Given the description of an element on the screen output the (x, y) to click on. 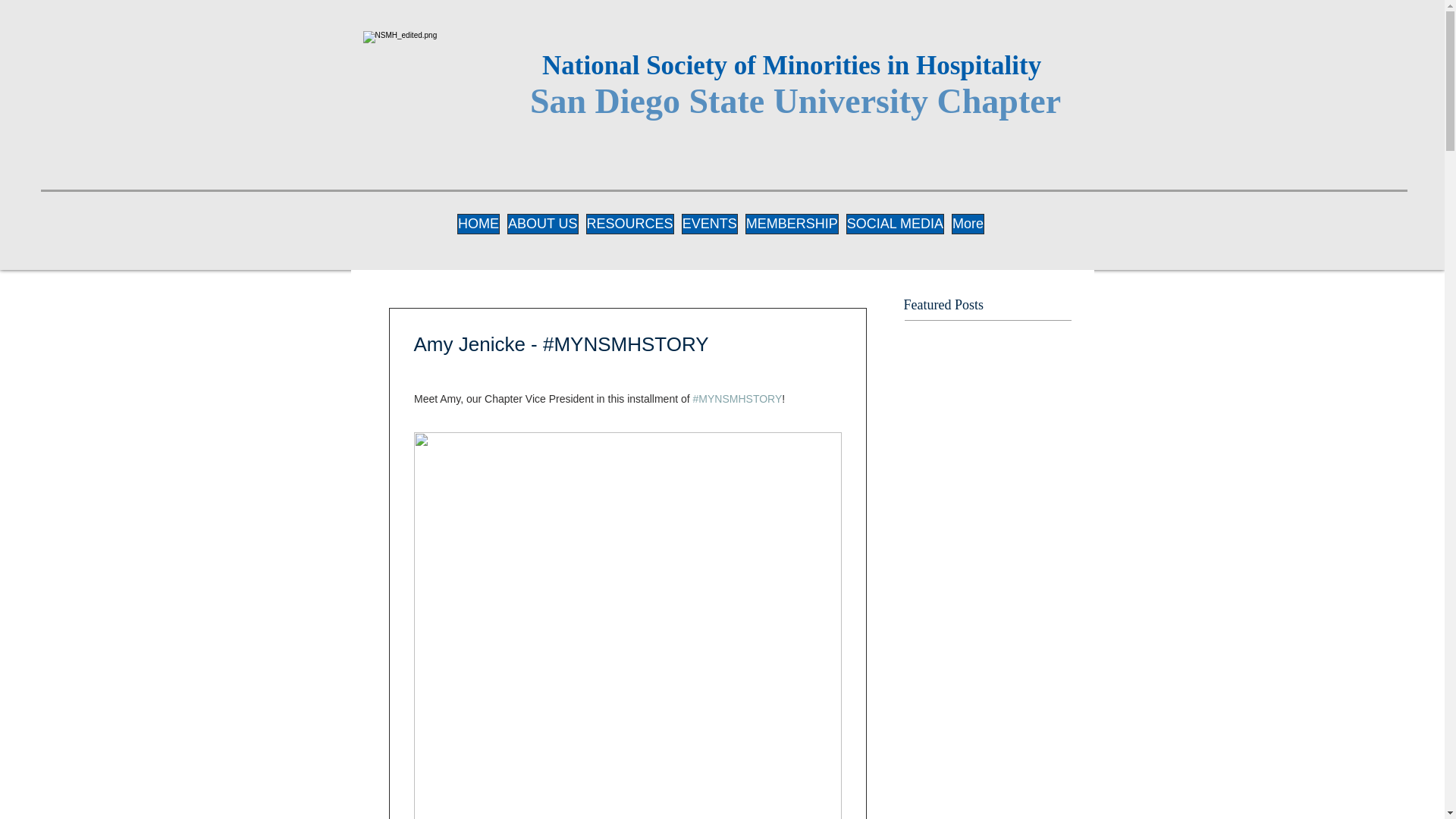
EVENTS (709, 226)
ABOUT US (542, 226)
MEMBERSHIP (791, 226)
HOME (478, 226)
RESOURCES (630, 226)
SOCIAL MEDIA (894, 226)
